Given the description of an element on the screen output the (x, y) to click on. 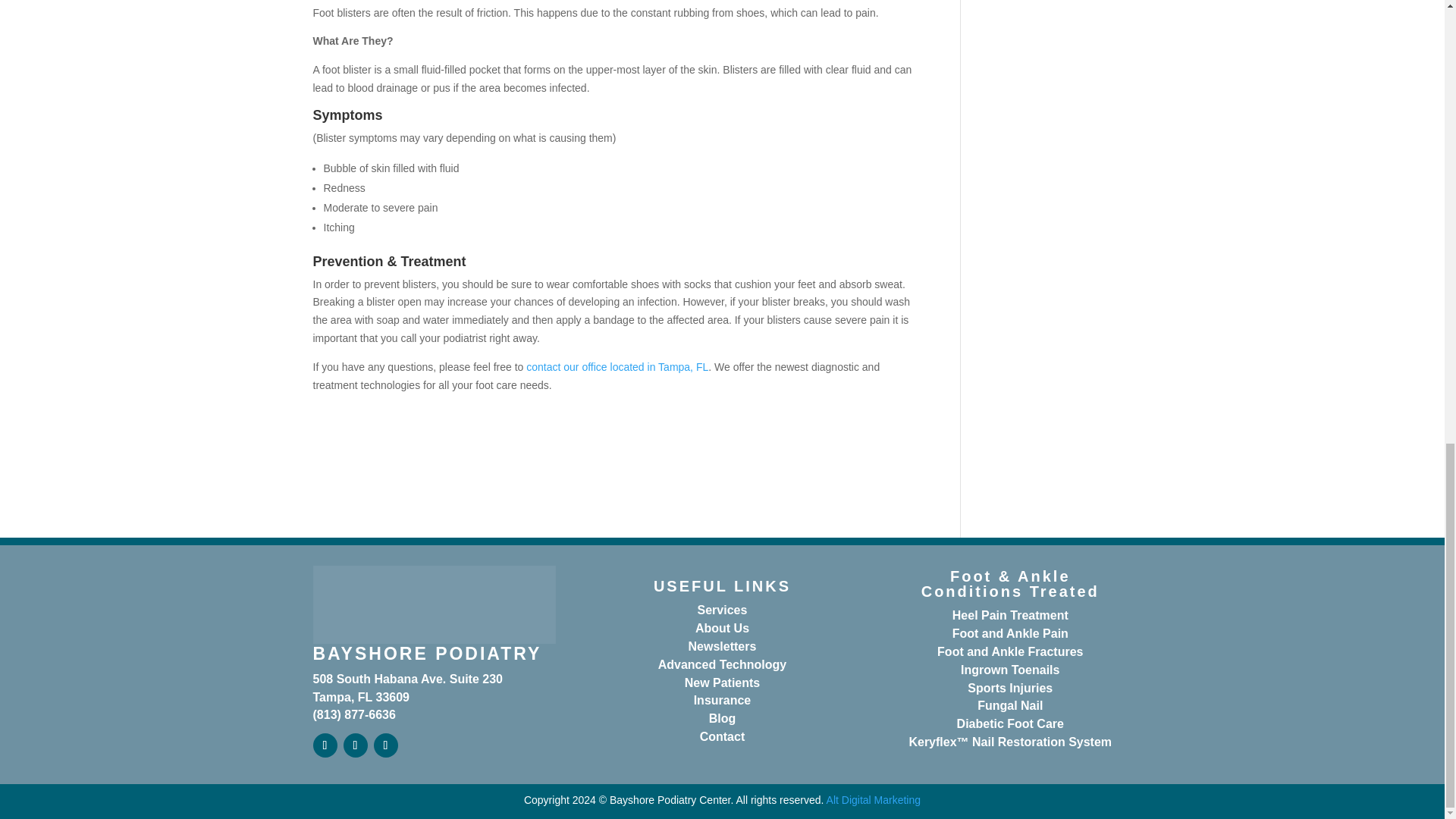
contact our office located in Tampa, FL (616, 367)
Services (722, 609)
Follow on X (354, 745)
Follow on Instagram (384, 745)
About Us (722, 627)
Follow on Facebook (324, 745)
